Given the description of an element on the screen output the (x, y) to click on. 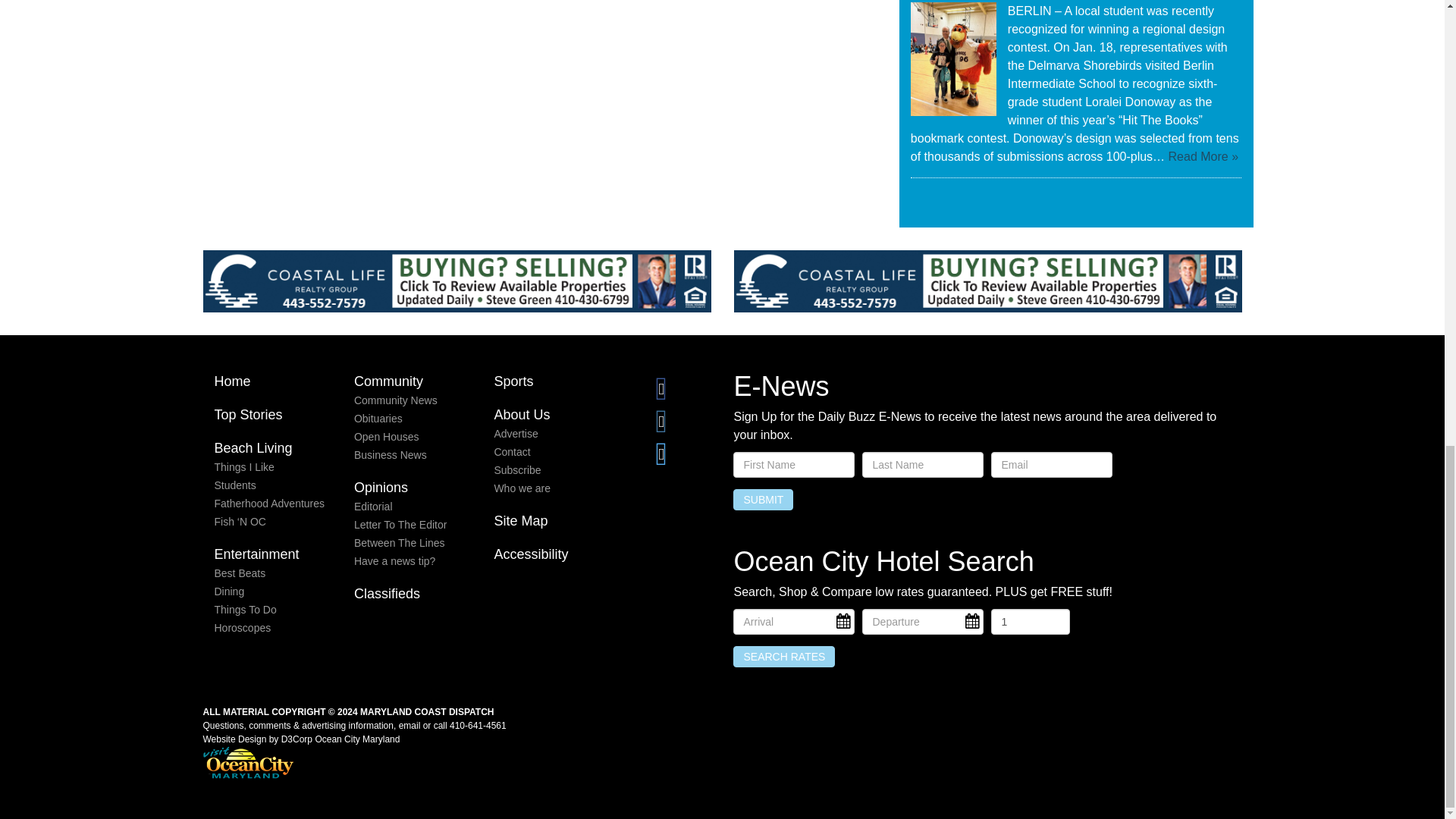
1 (1029, 621)
